Given the description of an element on the screen output the (x, y) to click on. 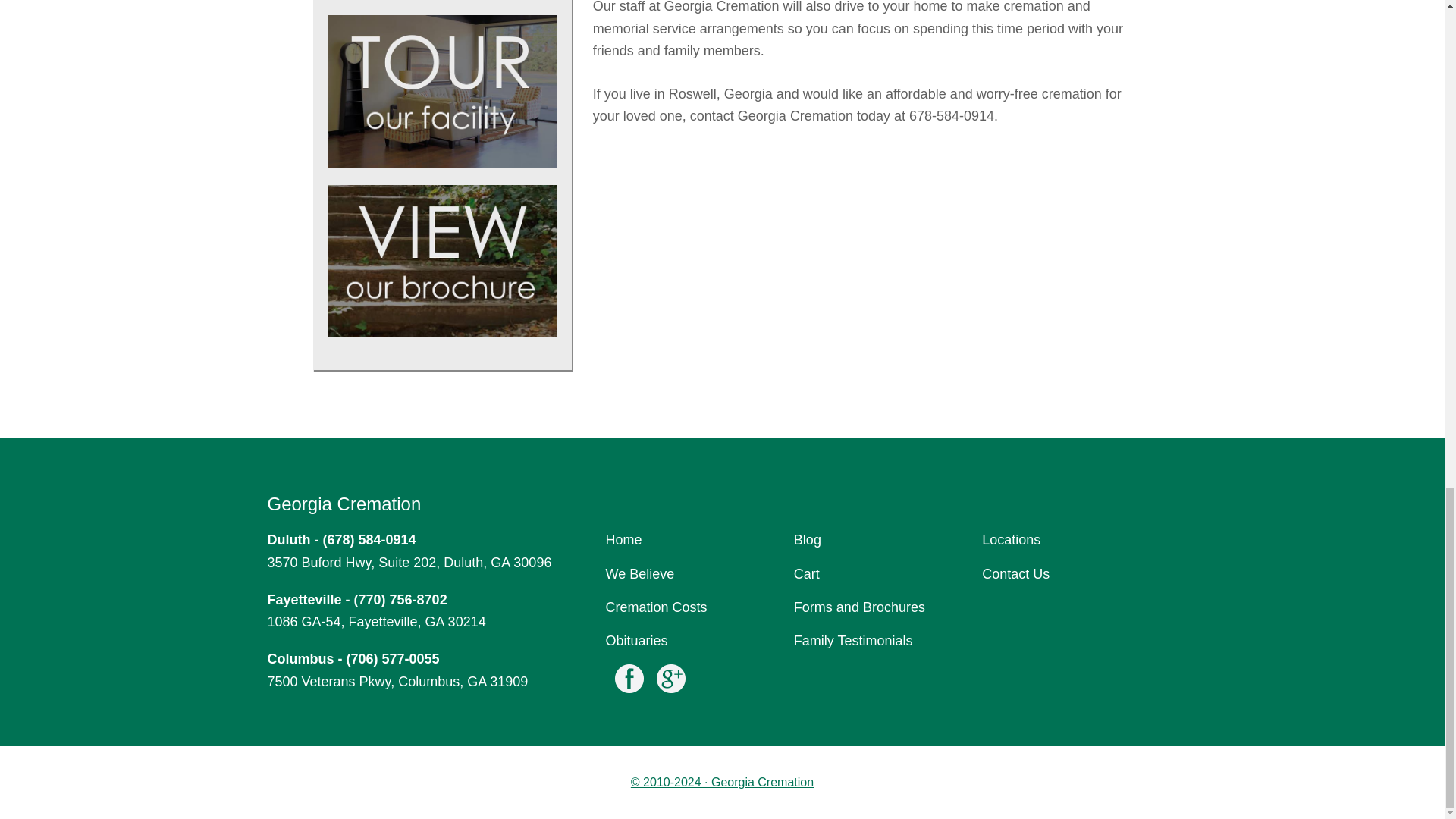
Cart (806, 573)
3570 Buford Hwy, Suite 202, Duluth, GA 30096 (408, 562)
Home (623, 539)
We Believe (640, 573)
1086 GA-54, Fayetteville, GA 30214 (375, 621)
7500 Veterans Pkwy, Columbus, GA 31909 (396, 681)
Cremation Costs (656, 607)
Visit Us on Facebook (628, 682)
Locations (1011, 539)
Blog (807, 539)
Family Testimonials (852, 640)
Forms and Brochures (858, 607)
Obituaries (636, 640)
Visit Us on Google Plus (671, 682)
Contact Us (1015, 573)
